Given the description of an element on the screen output the (x, y) to click on. 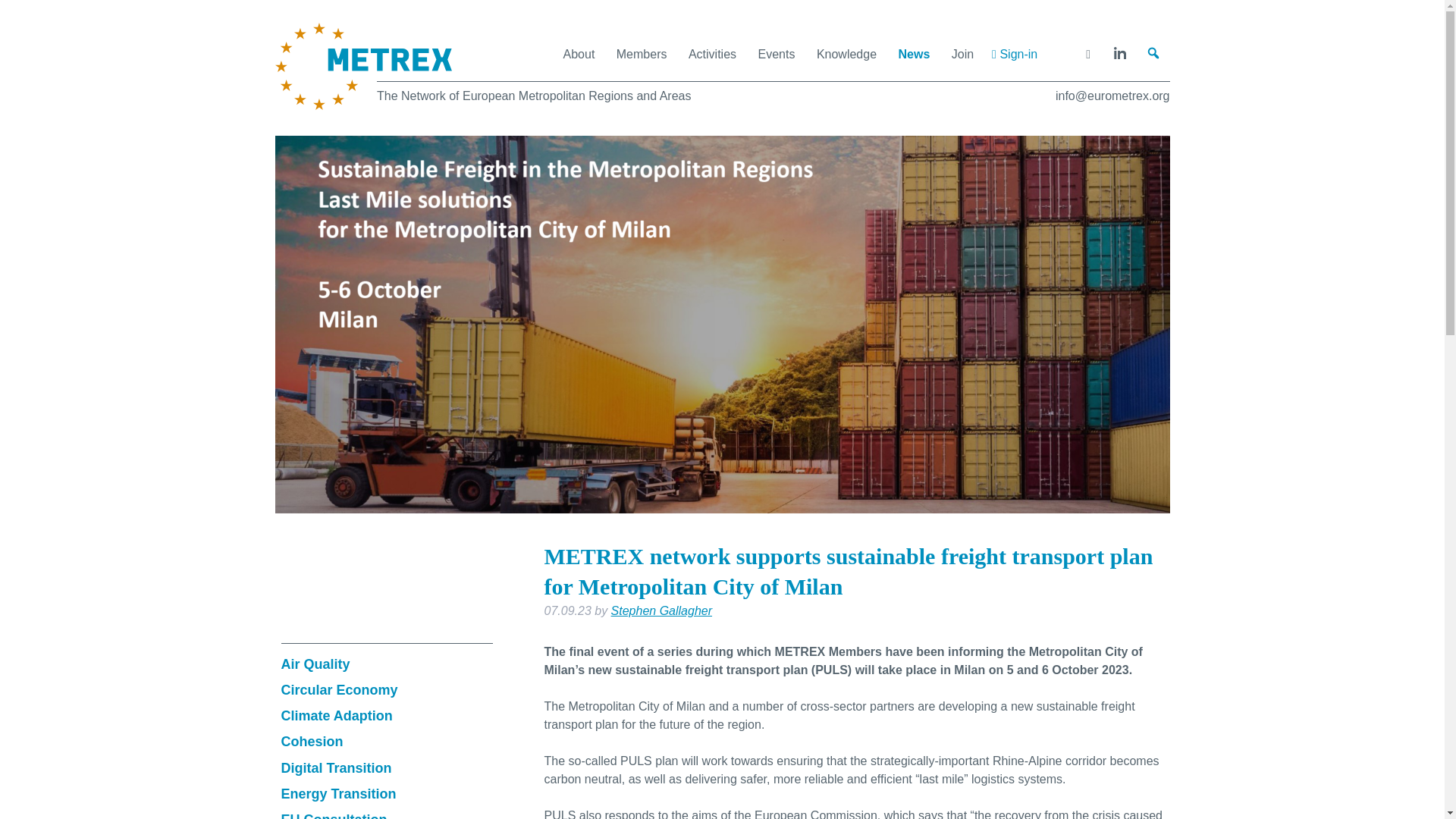
Sign-in (1014, 53)
Circular Economy (339, 689)
News (913, 53)
Activities (712, 53)
Digital Transition (336, 767)
Events (777, 53)
Knowledge (846, 53)
Stephen Gallagher (661, 610)
Cohesion (311, 741)
Energy Transition (338, 793)
